Given the description of an element on the screen output the (x, y) to click on. 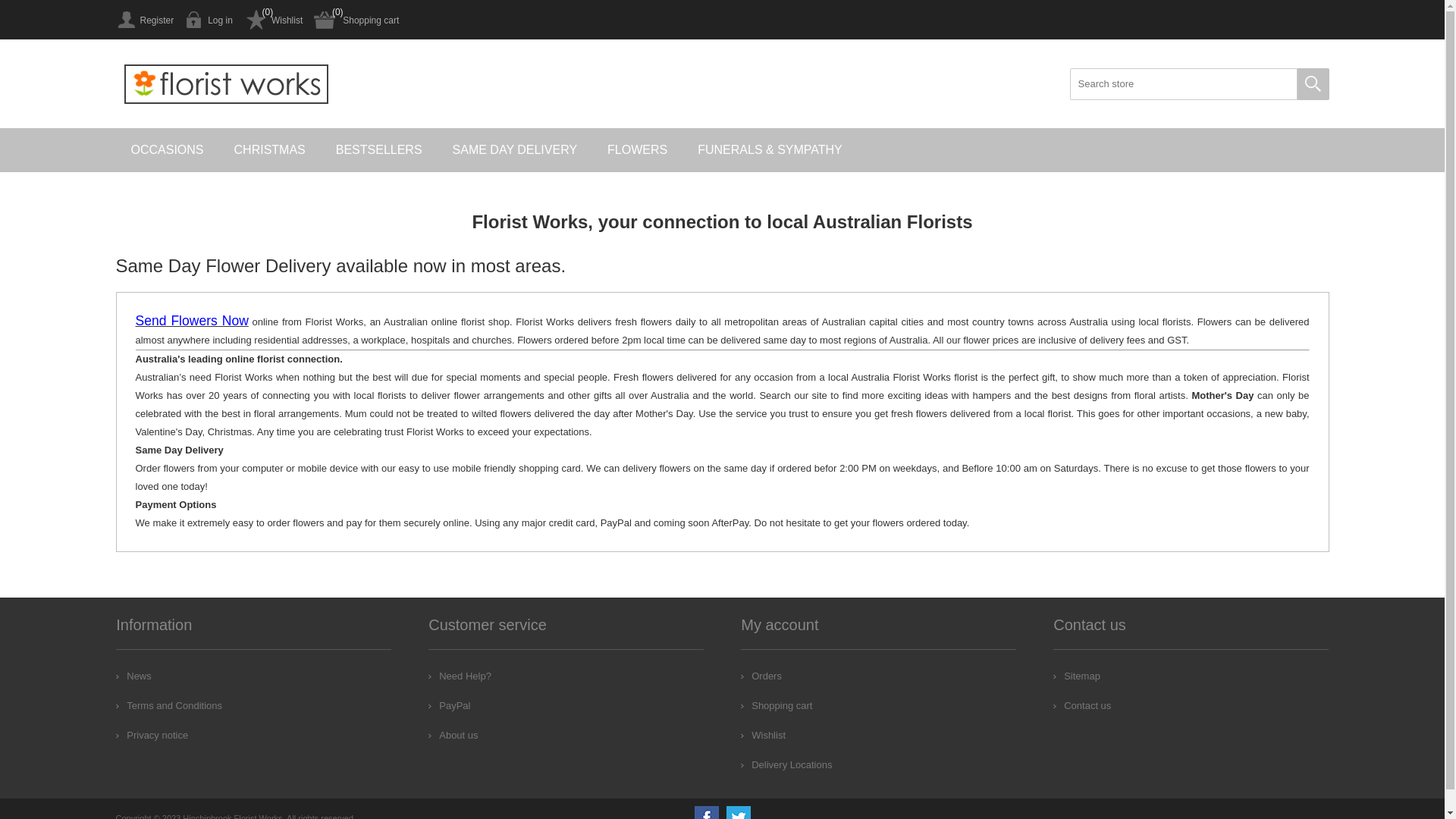
Orders Element type: text (760, 675)
Wishlist Element type: text (273, 19)
Sitemap Element type: text (1076, 675)
Search Element type: text (1312, 84)
Shopping cart Element type: text (776, 705)
About us Element type: text (452, 734)
PayPal Element type: text (449, 705)
CHRISTMAS Element type: text (269, 150)
Terms and Conditions Element type: text (169, 705)
Wishlist Element type: text (762, 734)
BESTSELLERS Element type: text (378, 150)
SAME DAY DELIVERY Element type: text (515, 150)
FUNERALS & SYMPATHY Element type: text (769, 150)
Send Flowers Now Element type: text (190, 321)
Delivery Locations Element type: text (785, 764)
FLOWERS Element type: text (637, 150)
Register Element type: text (144, 19)
Need Help? Element type: text (459, 675)
Contact us Element type: text (1081, 705)
News Element type: text (133, 675)
OCCASIONS Element type: text (166, 150)
Privacy notice Element type: text (152, 734)
Log in Element type: text (208, 19)
Shopping cart Element type: text (355, 19)
